Given the description of an element on the screen output the (x, y) to click on. 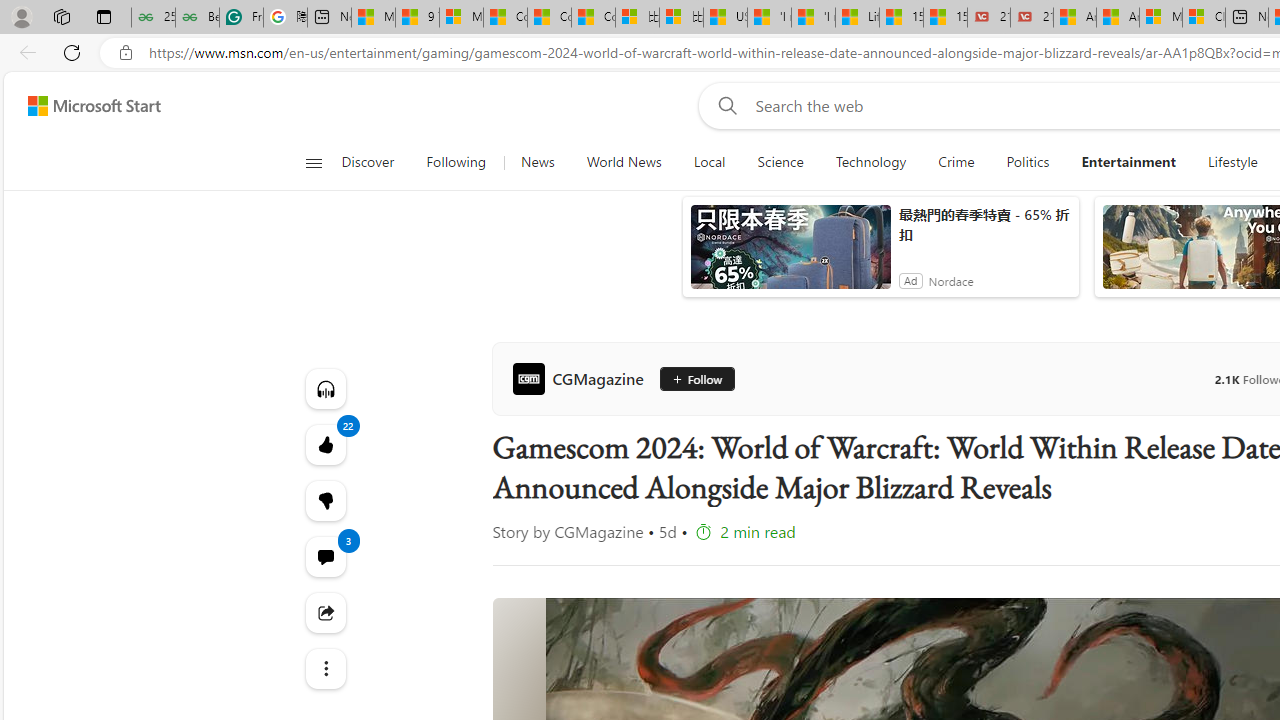
View comments 3 Comment (324, 556)
21 Movies That Outdid the Books They Were Based On (1032, 17)
Entertainment (1129, 162)
22 Like (324, 444)
Web search (724, 105)
Best SSL Certificates Provider in India - GeeksforGeeks (196, 17)
Share this story (324, 612)
Local (708, 162)
